Given the description of an element on the screen output the (x, y) to click on. 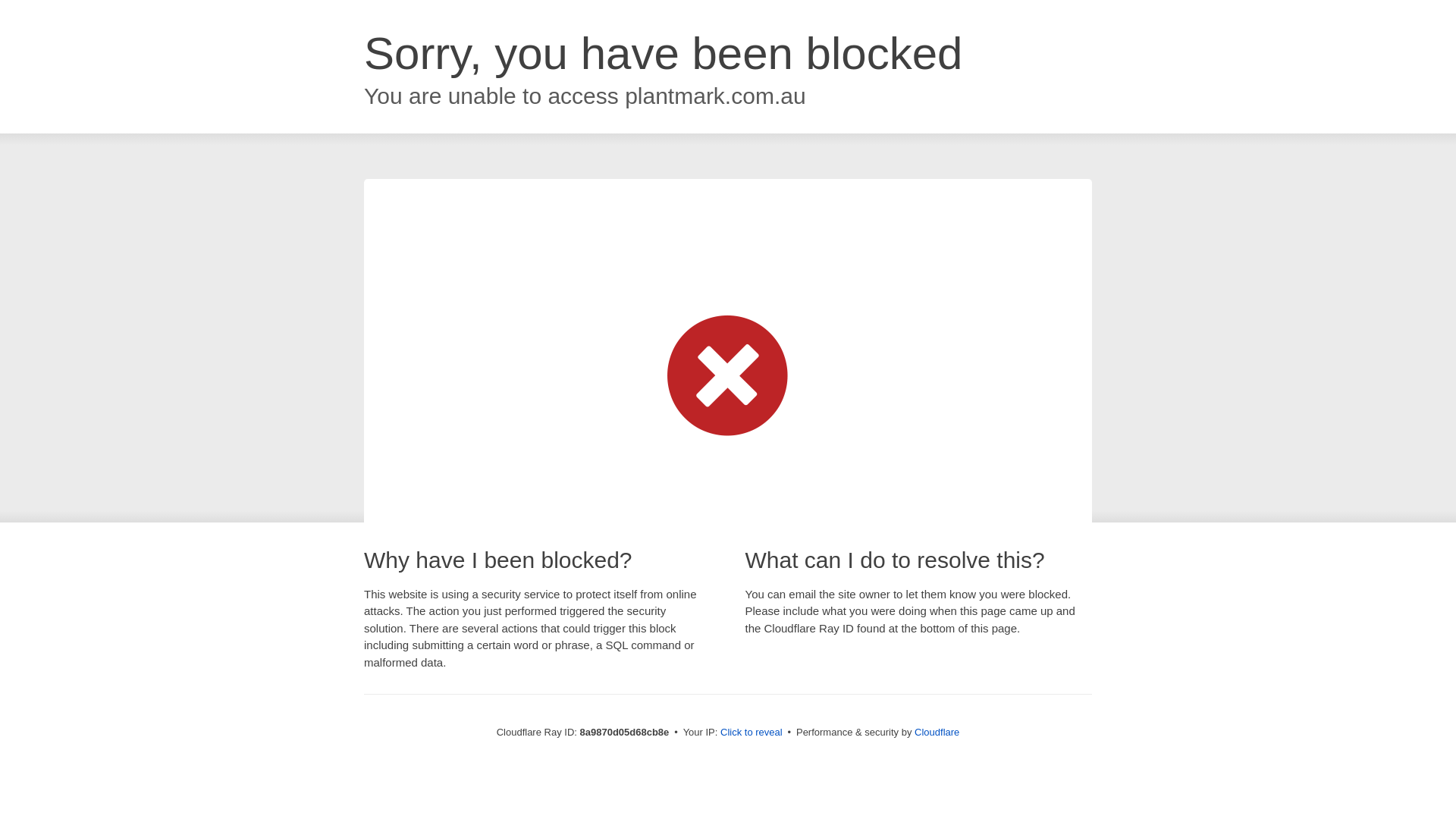
Cloudflare (936, 731)
Click to reveal (751, 732)
